Given the description of an element on the screen output the (x, y) to click on. 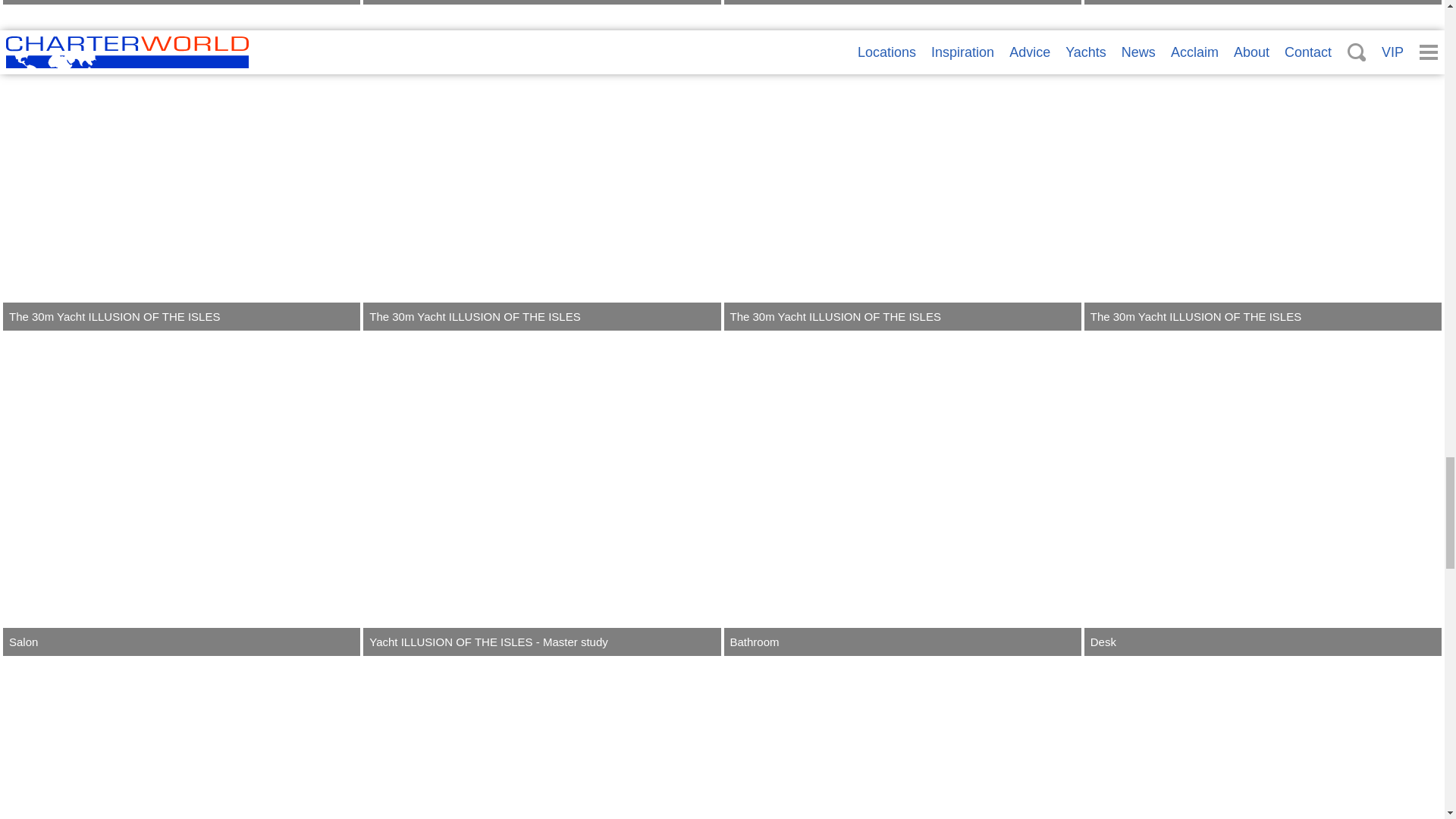
The 30m Yacht ILLUSION OF THE ISLES (180, 2)
The 30m Yacht ILLUSION OF THE ISLES (180, 168)
The 30m Yacht ILLUSION OF THE ISLES (1262, 2)
The 30m Yacht ILLUSION OF THE ISLES (901, 2)
The 30m Yacht ILLUSION OF THE ISLES (541, 2)
